Given the description of an element on the screen output the (x, y) to click on. 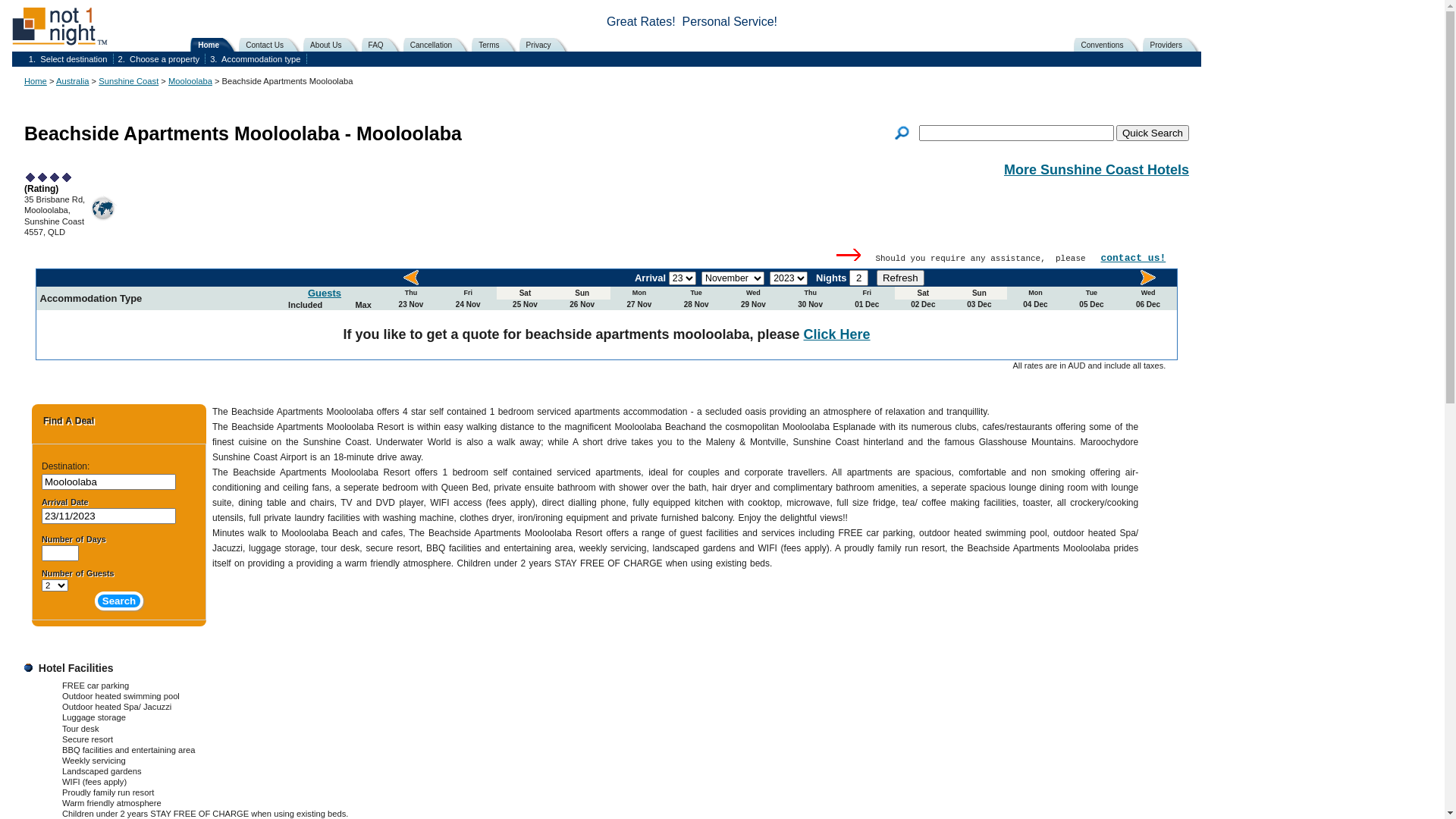
Terms Element type: text (496, 44)
Contact Us Element type: text (272, 44)
Home Element type: text (35, 80)
Mooloolaba Element type: text (190, 80)
Conventions Element type: text (1109, 44)
Providers Element type: text (1173, 44)
Click Here Element type: text (836, 334)
Privacy Element type: text (546, 44)
3.  Accommodation type Element type: text (256, 58)
More Sunshine Coast Hotels Element type: text (1096, 169)
Cancellation Element type: text (438, 44)
Refresh Element type: text (900, 277)
1.  Select destination Element type: text (69, 58)
About Us Element type: text (333, 44)
Home Element type: text (216, 44)
Sunshine Coast Element type: text (128, 80)
Guests Element type: text (324, 292)
Quick Search Element type: text (1152, 133)
Australia Element type: text (72, 80)
contact us! Element type: text (1132, 257)
Beachside Apartments Mooloolaba - Mooloolaba
        Element type: text (242, 143)
FAQ Element type: text (383, 44)
2.  Choose a property Element type: text (160, 58)
click to view map Element type: hover (102, 207)
